Given the description of an element on the screen output the (x, y) to click on. 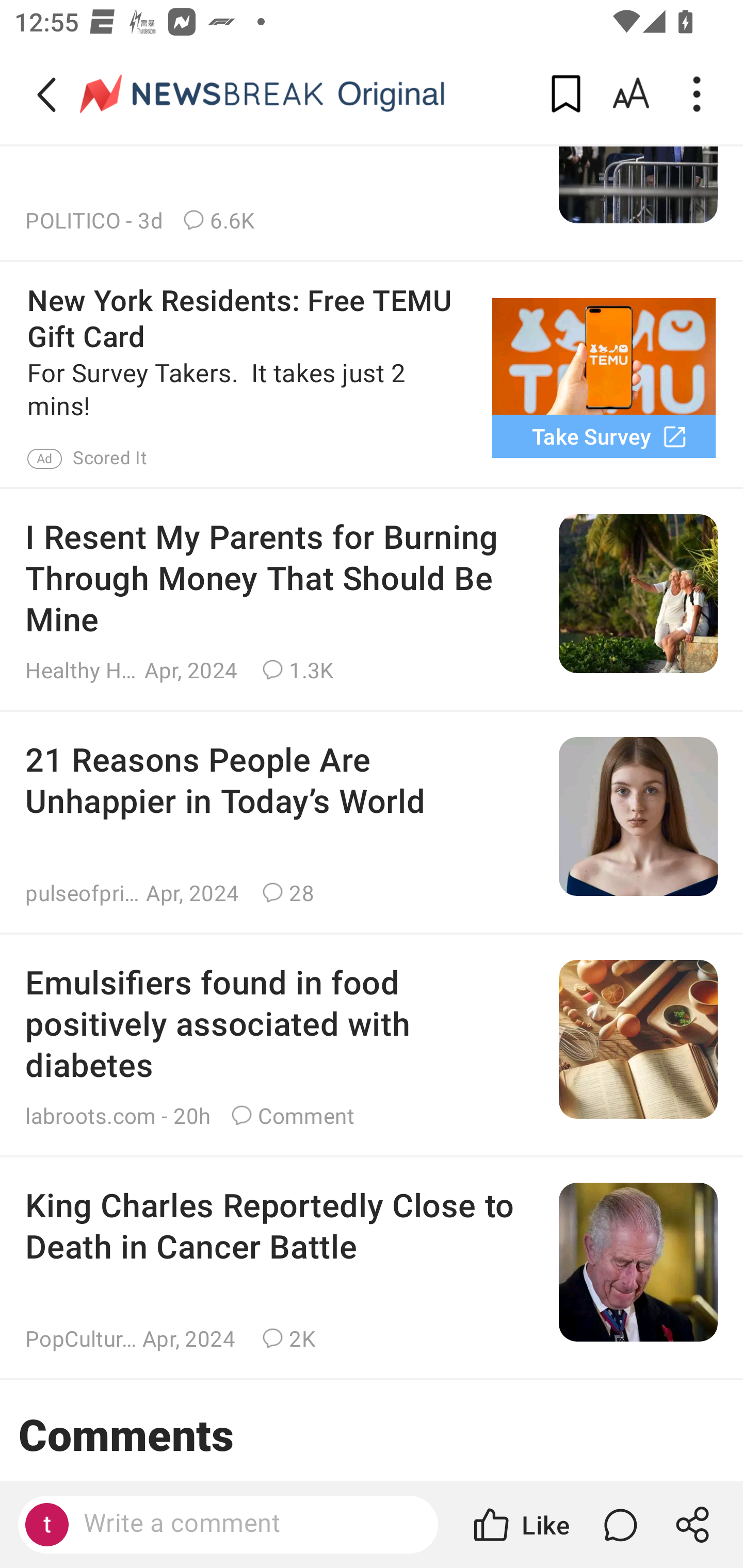
New York Residents: Free TEMU Gift Card (250, 317)
For Survey Takers.  It takes just 2 mins! (250, 390)
Take Survey (603, 435)
Scored It (109, 458)
Like (519, 1524)
Write a comment (245, 1523)
